Given the description of an element on the screen output the (x, y) to click on. 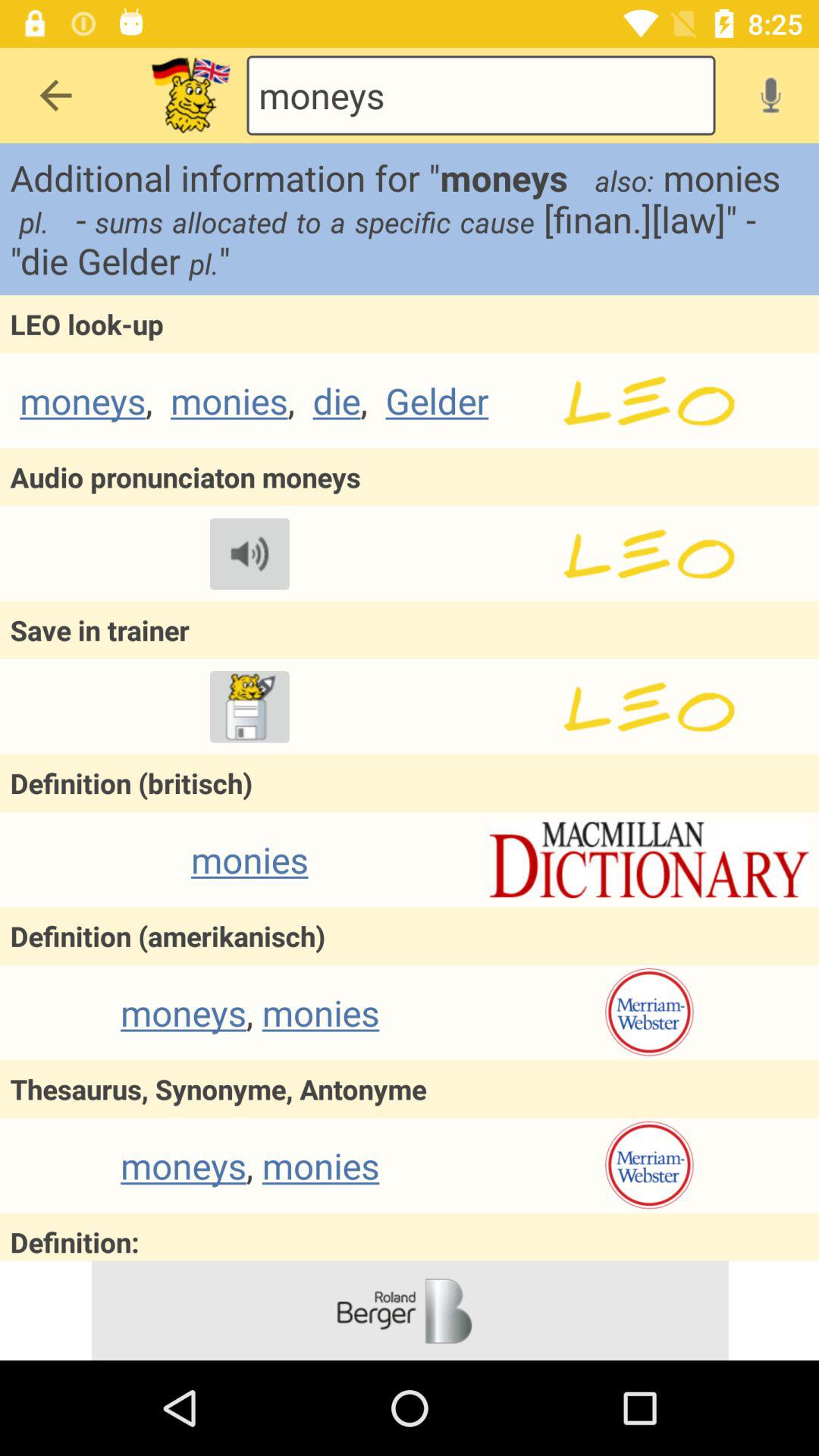
select picture botton (190, 95)
